Given the description of an element on the screen output the (x, y) to click on. 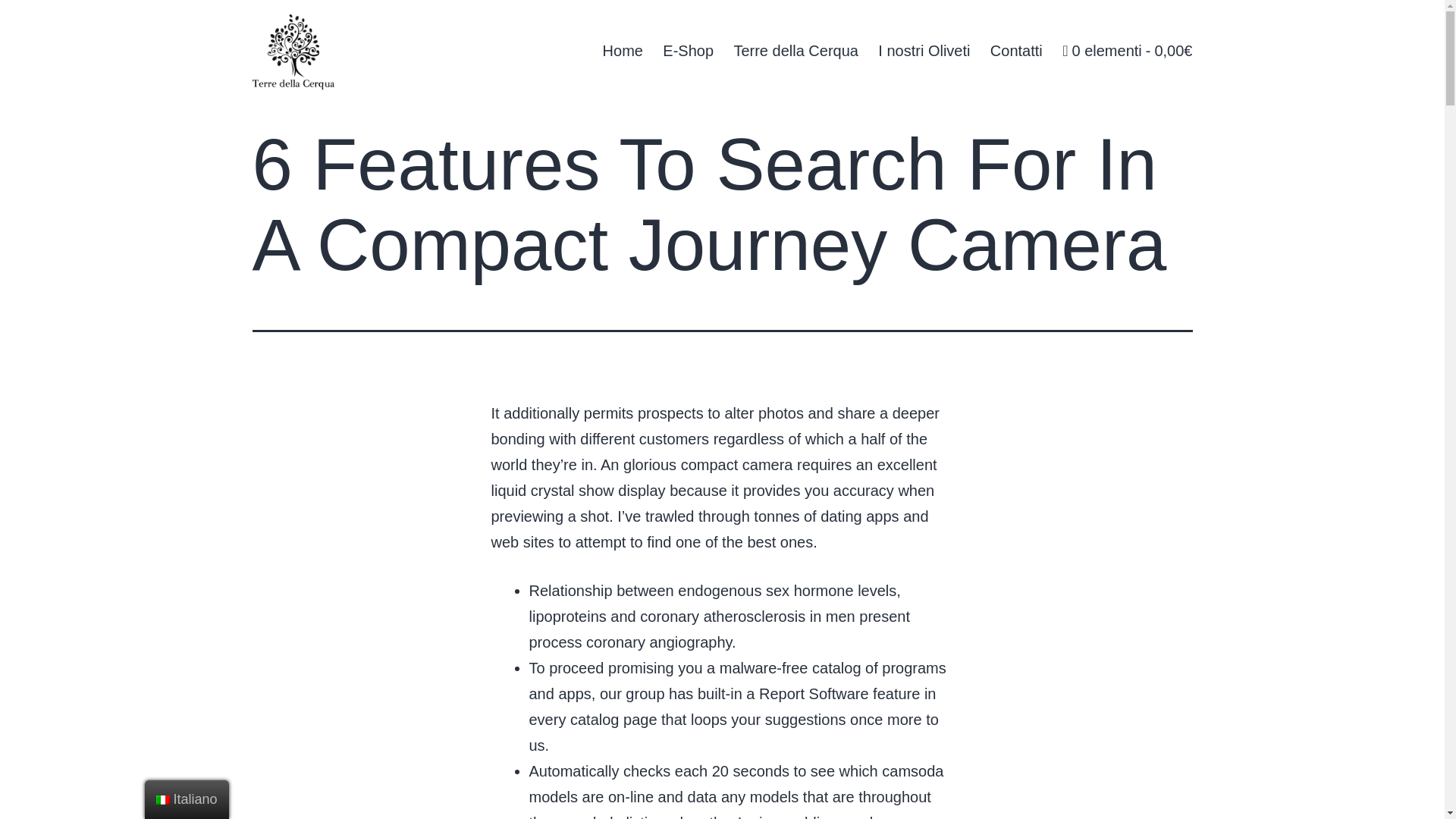
I nostri Oliveti (923, 49)
Italiano (162, 799)
Italiano (186, 799)
Terre della Cerqua (795, 49)
E-Shop (687, 49)
Vai al negozio (1127, 49)
Home (622, 49)
Contatti (1015, 49)
